Given the description of an element on the screen output the (x, y) to click on. 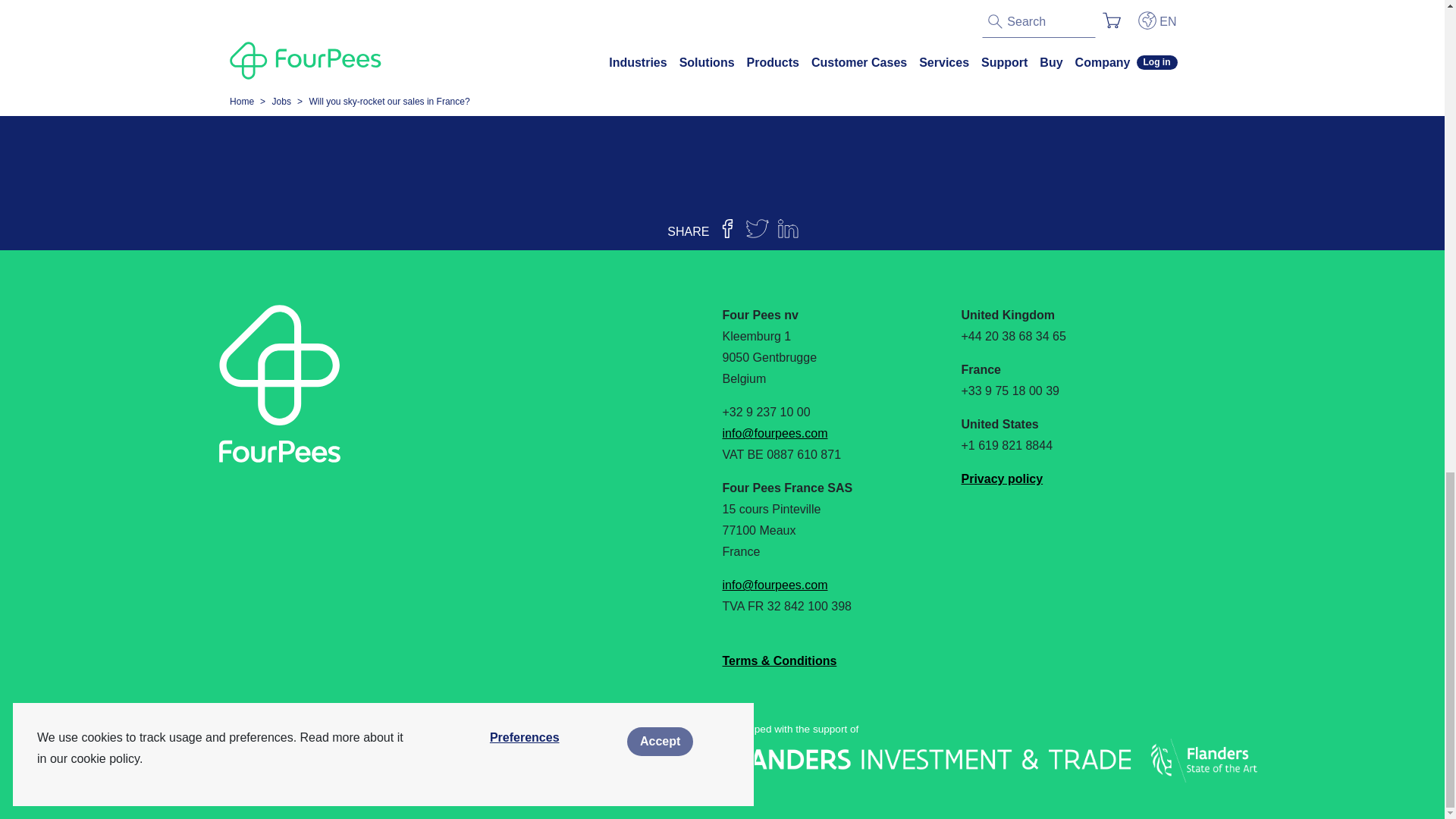
Youtube (330, 738)
Twitter (251, 738)
Facebook (218, 738)
Linkedin (291, 738)
